Given the description of an element on the screen output the (x, y) to click on. 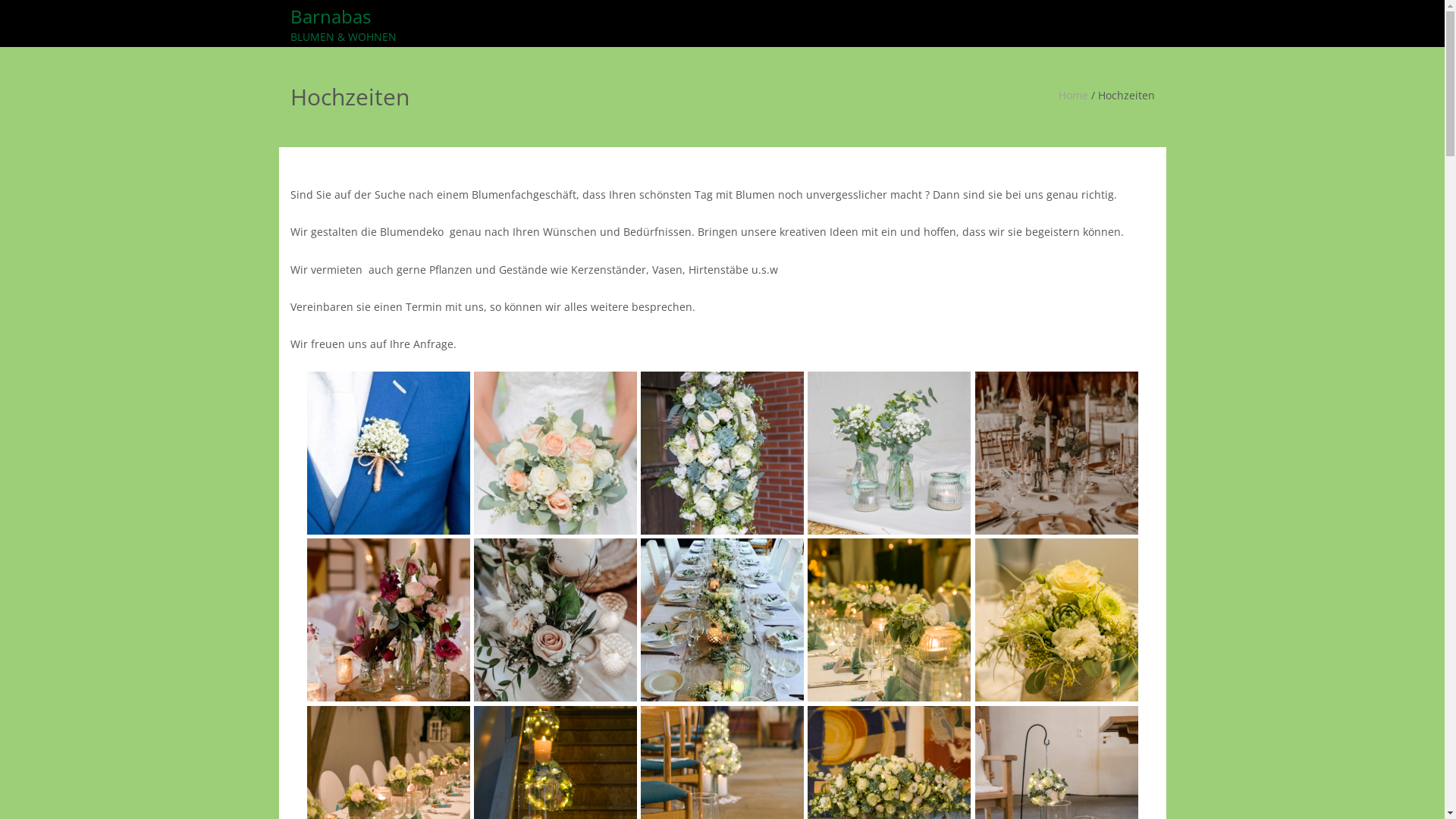
CAA876EF-DC76-413A-9328-935CC021A722 Element type: hover (1056, 619)
Home Element type: text (1073, 94)
0E514D00-74CC-4B6A-B05E-2187B8AF655B Element type: hover (387, 452)
A873425A-C06C-445A-B4B1-B41ADB8DC2D5 Element type: hover (555, 452)
CA29C810-DCE1-4068-B0A5-05818992B196 Element type: hover (1056, 452)
9CA30033-288D-42FA-9179-25D2C3D64D2E Element type: hover (721, 619)
E702F885-5591-4997-A9CC-8DE82BA0DDD7 Element type: hover (721, 452)
1FC8674F-28D4-44EF-8F03-3C5353AC6854 Element type: hover (555, 619)
C2F69F43-4972-4B47-95F0-AFB1195DF91A Element type: hover (387, 619)
120DD7A0-7245-455C-8835-FE6A0F650071 Element type: hover (888, 619)
20276060-CB18-4102-B382-448223ADE03B Element type: hover (888, 452)
Barnabas Element type: text (342, 25)
